Given the description of an element on the screen output the (x, y) to click on. 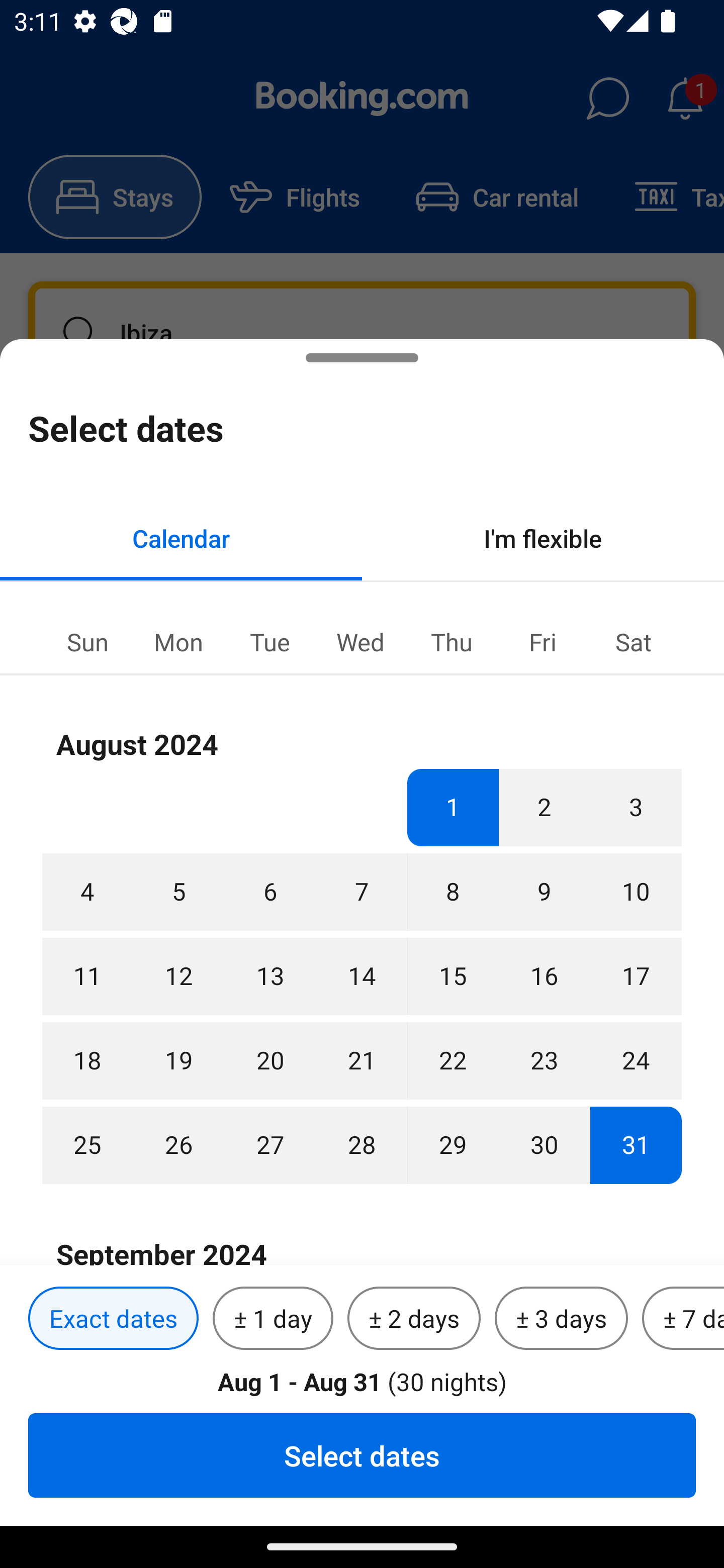
I'm flexible (543, 537)
Exact dates (113, 1318)
± 1 day (272, 1318)
± 2 days (413, 1318)
± 3 days (560, 1318)
± 7 days (683, 1318)
Select dates (361, 1454)
